Given the description of an element on the screen output the (x, y) to click on. 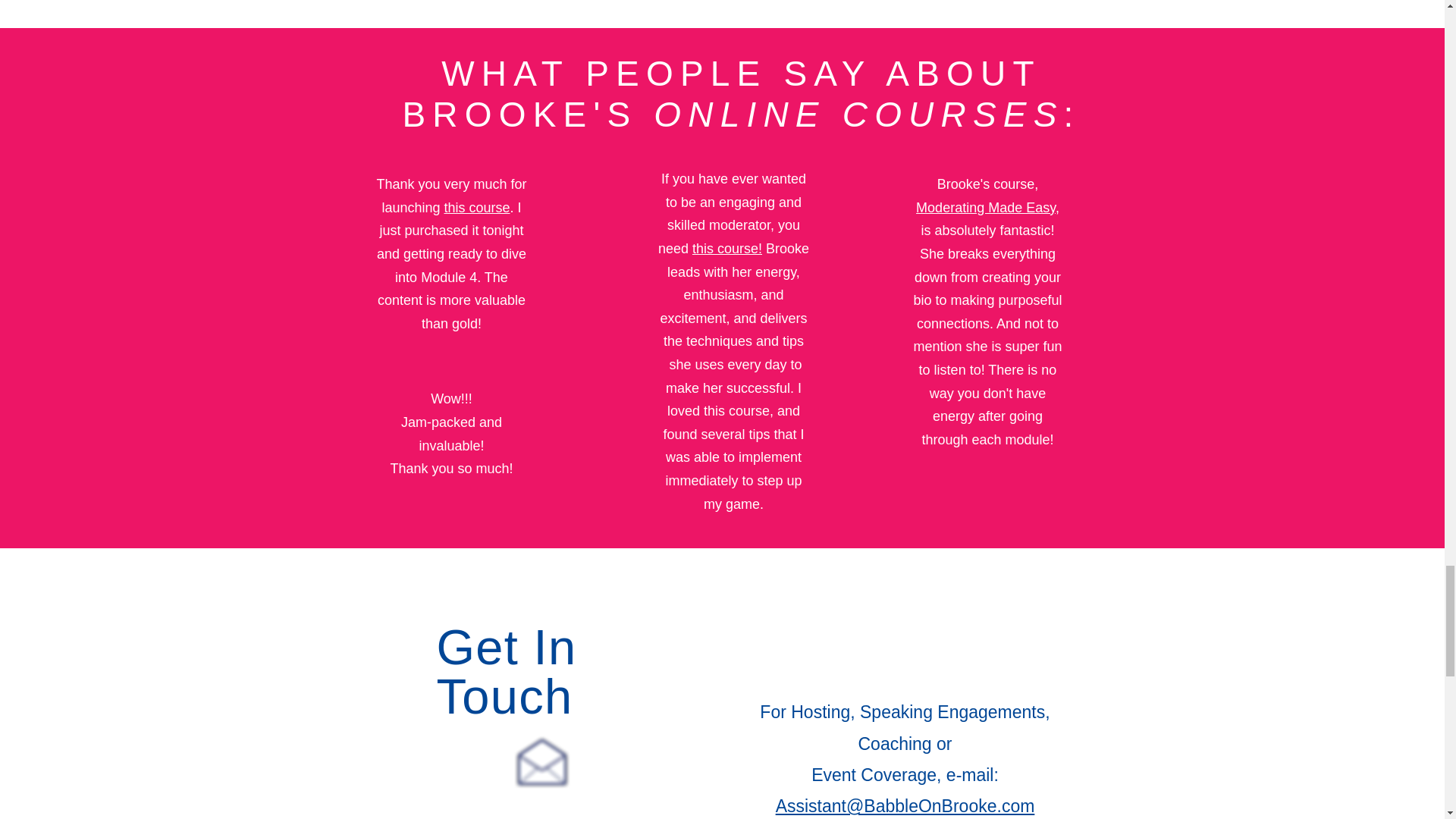
this course (477, 207)
Moderating Made Easy (985, 207)
this course! (727, 248)
